Given the description of an element on the screen output the (x, y) to click on. 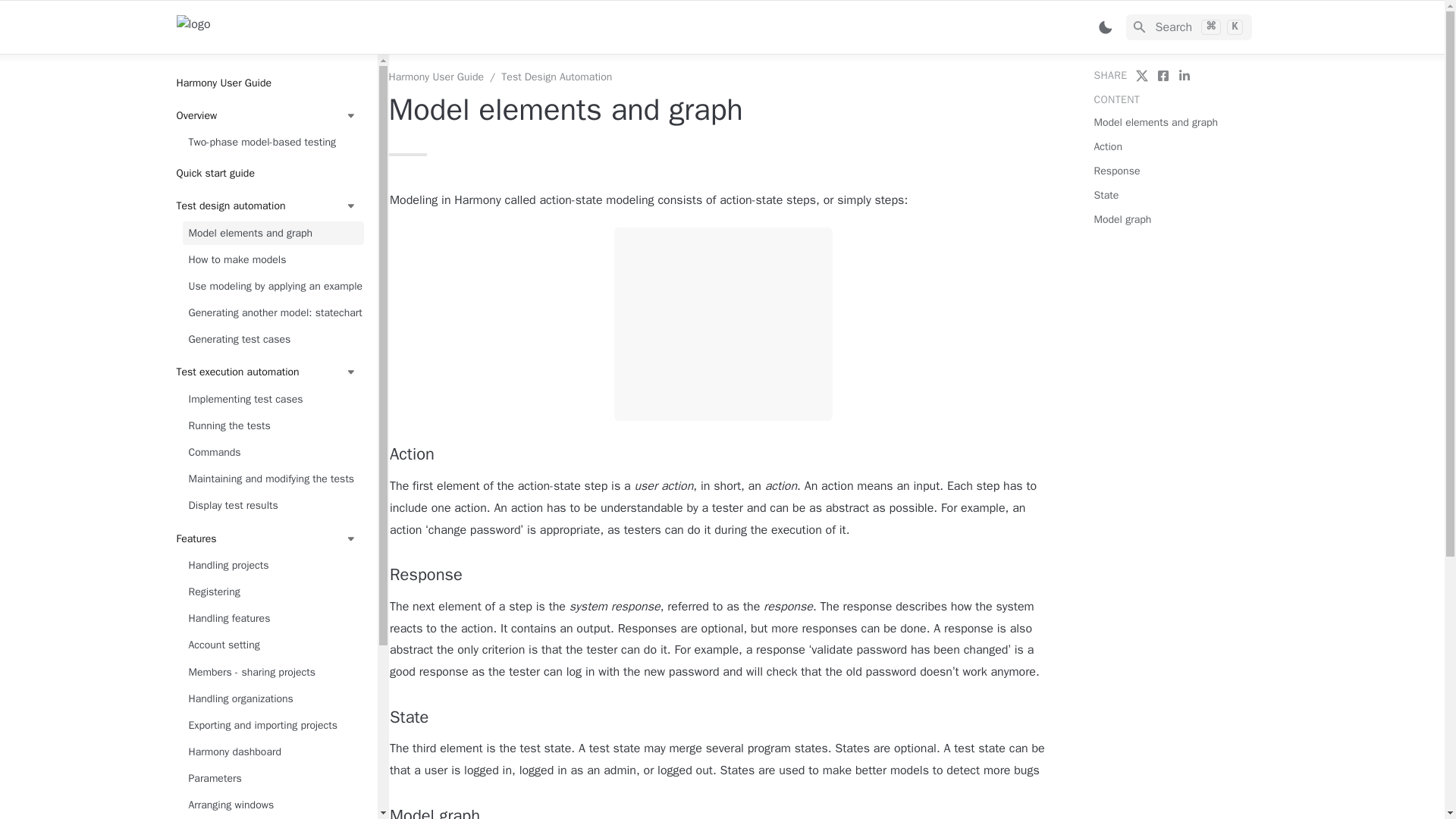
Generating another model: statechart (272, 313)
Model elements and graph (272, 232)
Handling projects (272, 565)
Test execution automation (266, 372)
Commands (272, 452)
Running the tests (272, 425)
Handling organizations (272, 698)
Harmony User Guide (266, 83)
Harmony User Guide (435, 77)
Parameters (272, 779)
Account setting (272, 645)
Members - sharing projects (272, 671)
Maintaining and modifying the tests (272, 479)
Two-phase model-based testing (272, 141)
Quick start guide (266, 173)
